Given the description of an element on the screen output the (x, y) to click on. 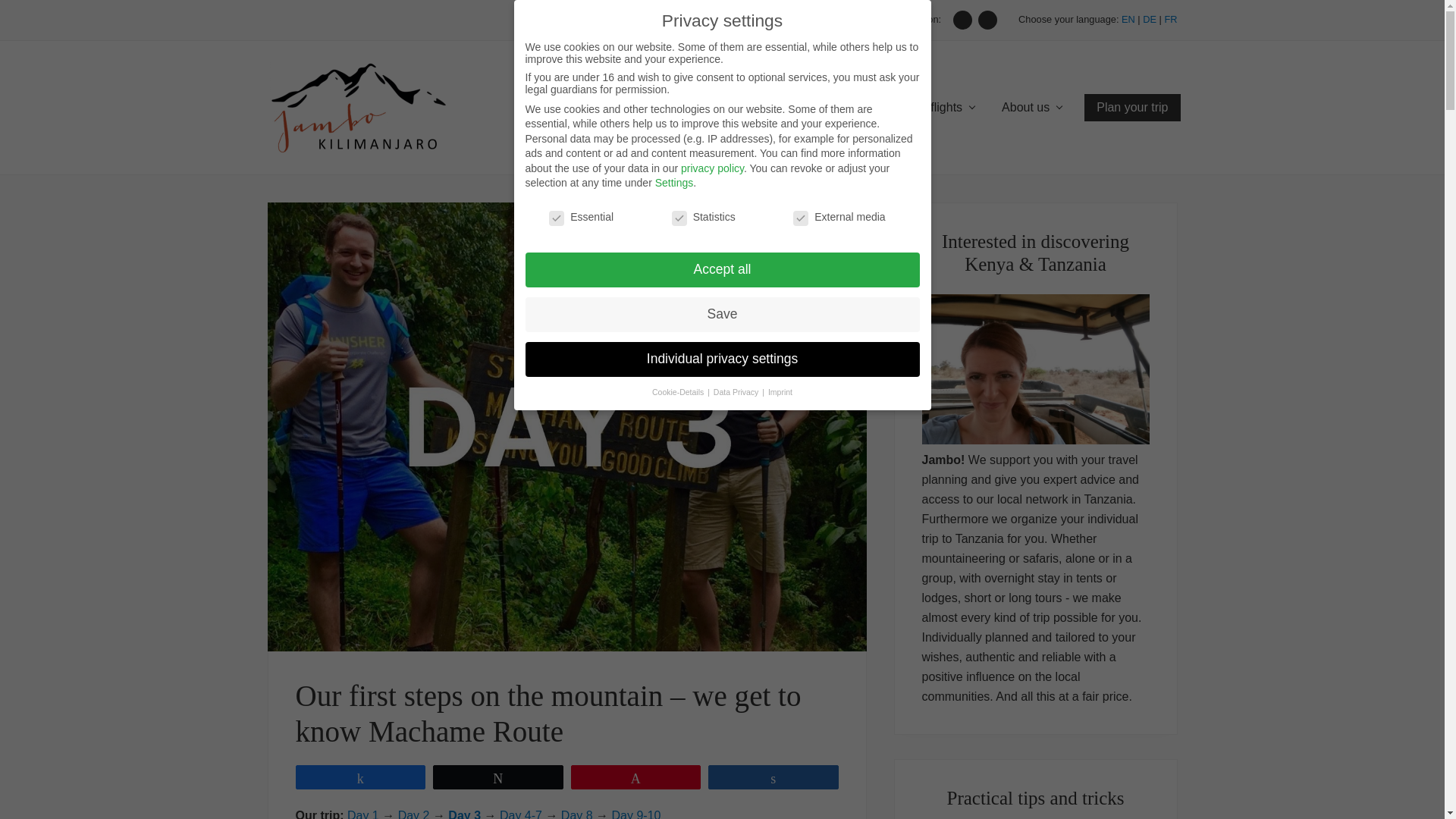
Facebook (962, 19)
DE (1149, 19)
Instagram (987, 19)
Facebook (963, 20)
EN (1128, 19)
Instagram (987, 20)
Beaches (785, 107)
Safaris (703, 107)
Trekking (621, 107)
